Given the description of an element on the screen output the (x, y) to click on. 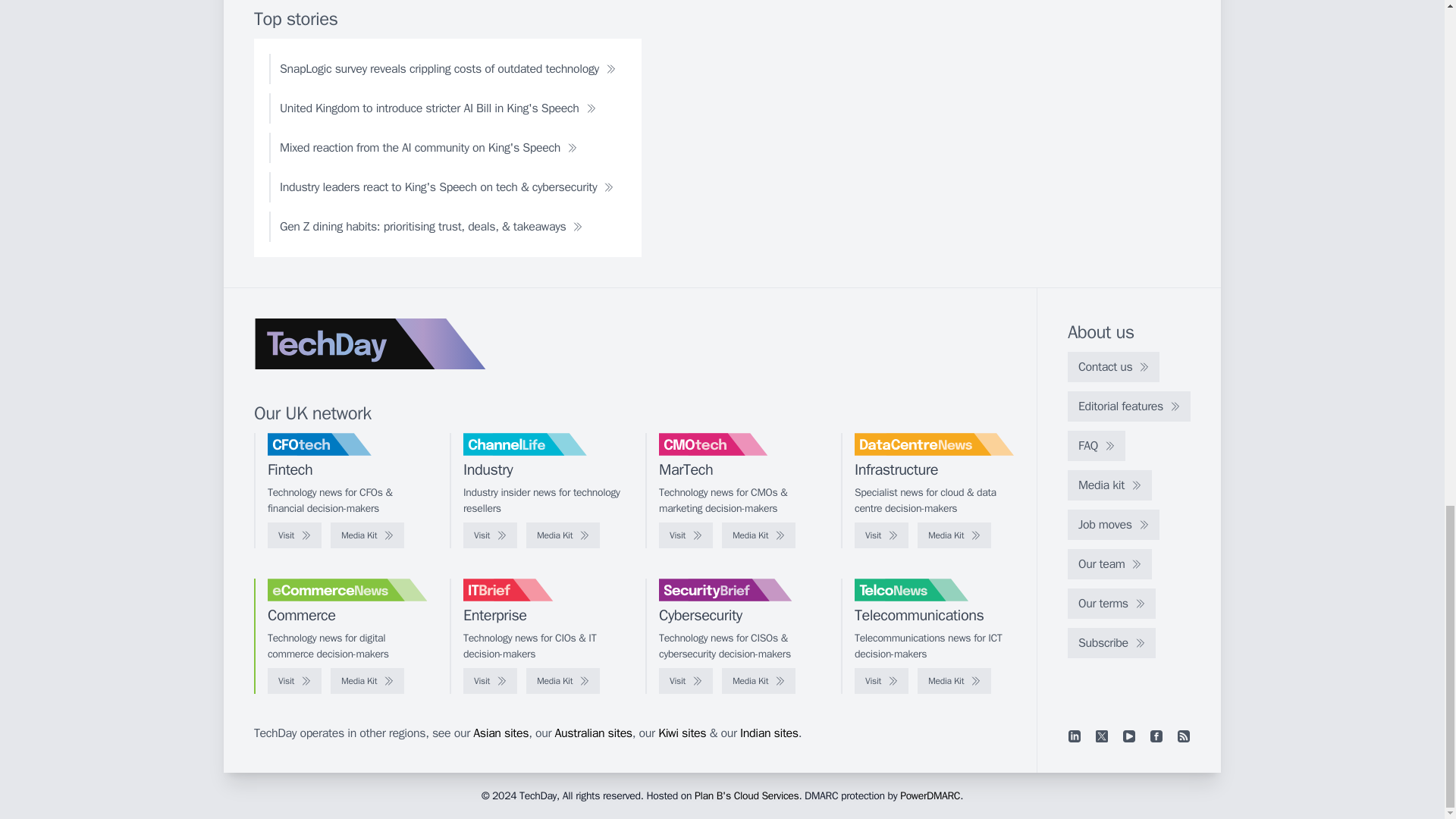
Media Kit (758, 534)
Media Kit (562, 534)
Visit (294, 534)
Mixed reaction from the AI community on King's Speech (428, 147)
Media Kit (954, 534)
Visit (881, 534)
Media Kit (367, 534)
Visit (686, 534)
Visit (489, 534)
